Given the description of an element on the screen output the (x, y) to click on. 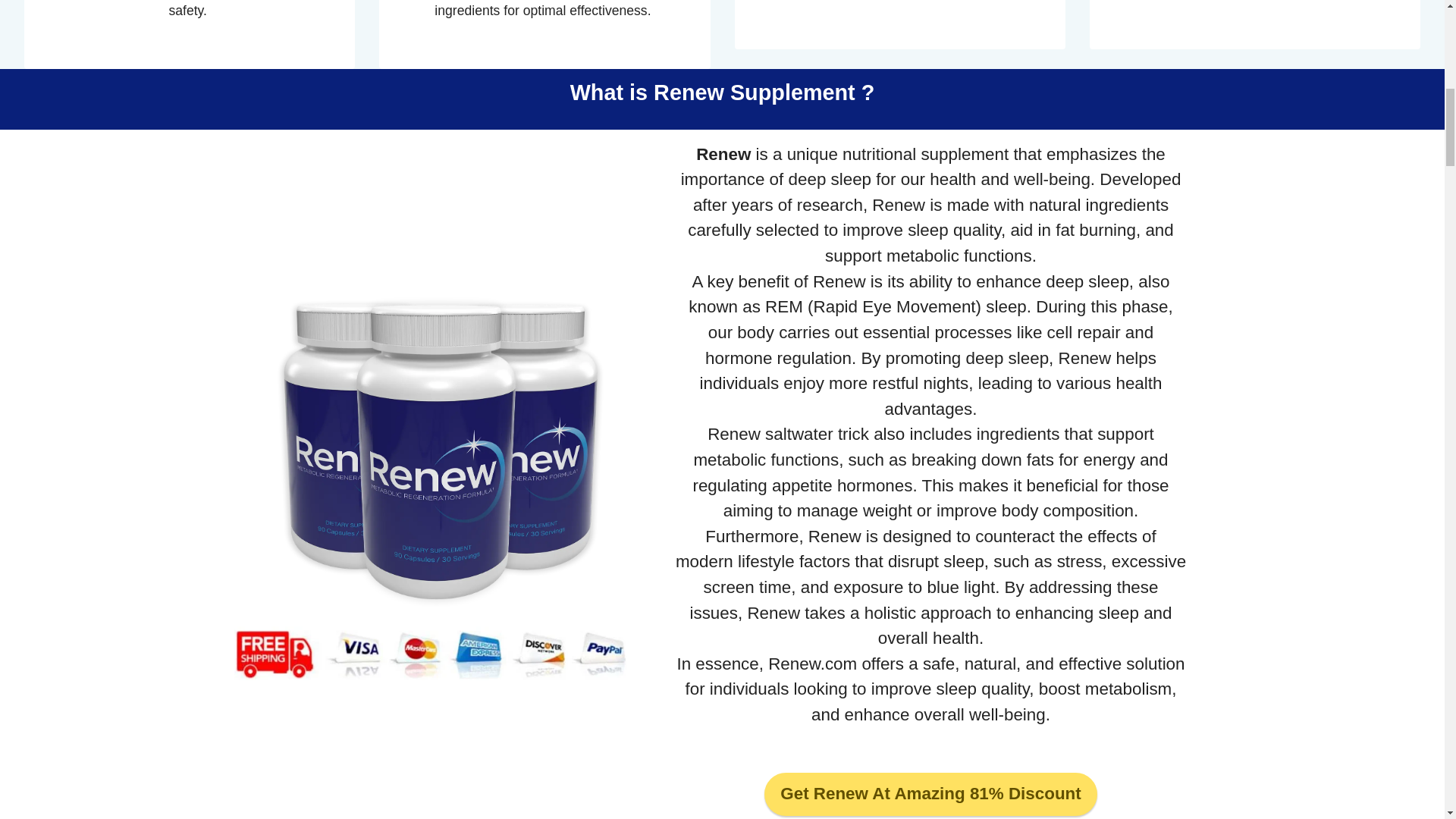
Renew (723, 153)
